Given the description of an element on the screen output the (x, y) to click on. 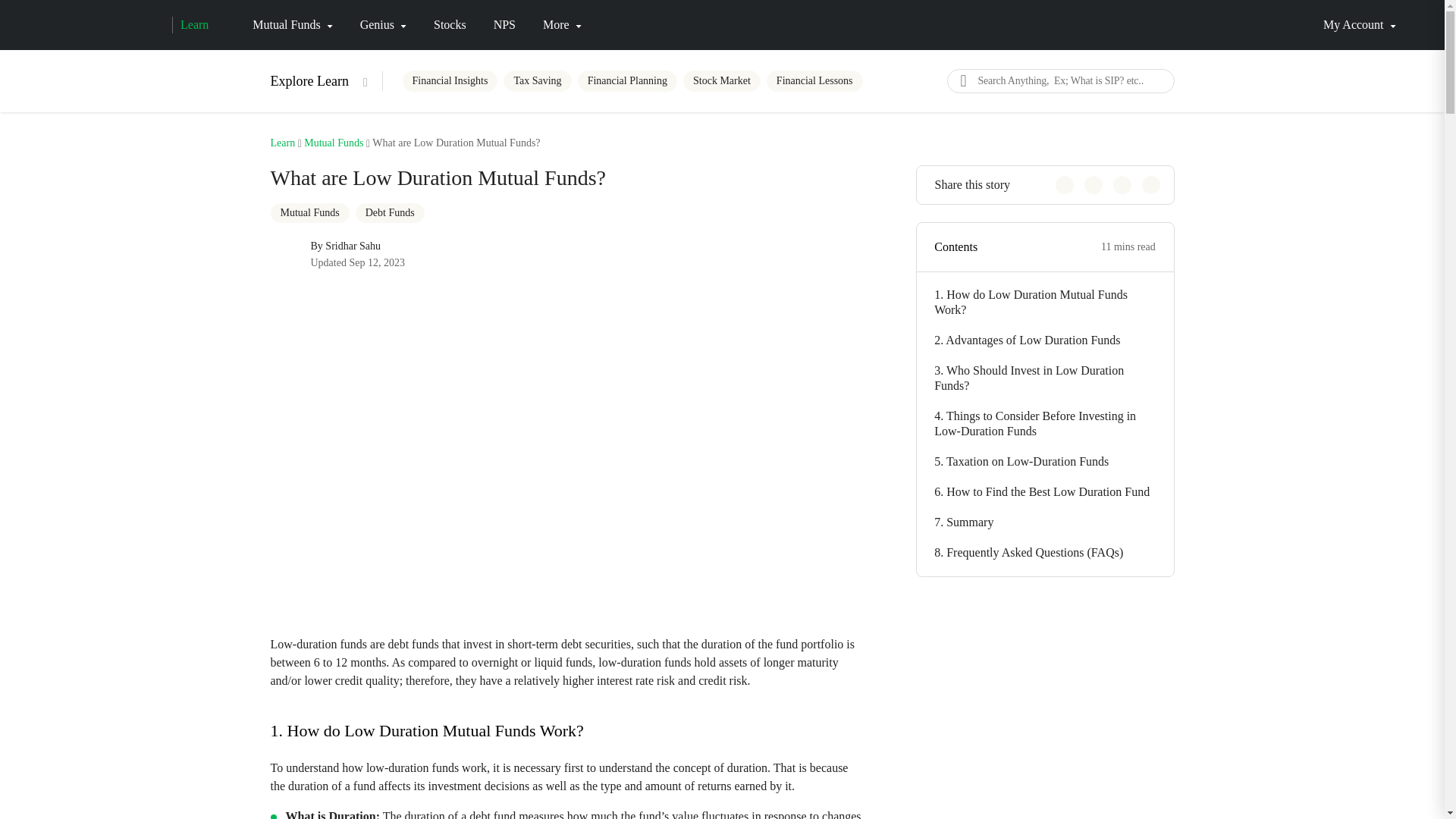
NPS (504, 24)
Learn (189, 24)
ET Money (104, 24)
Stocks (449, 24)
Search (961, 80)
Search (961, 80)
